Given the description of an element on the screen output the (x, y) to click on. 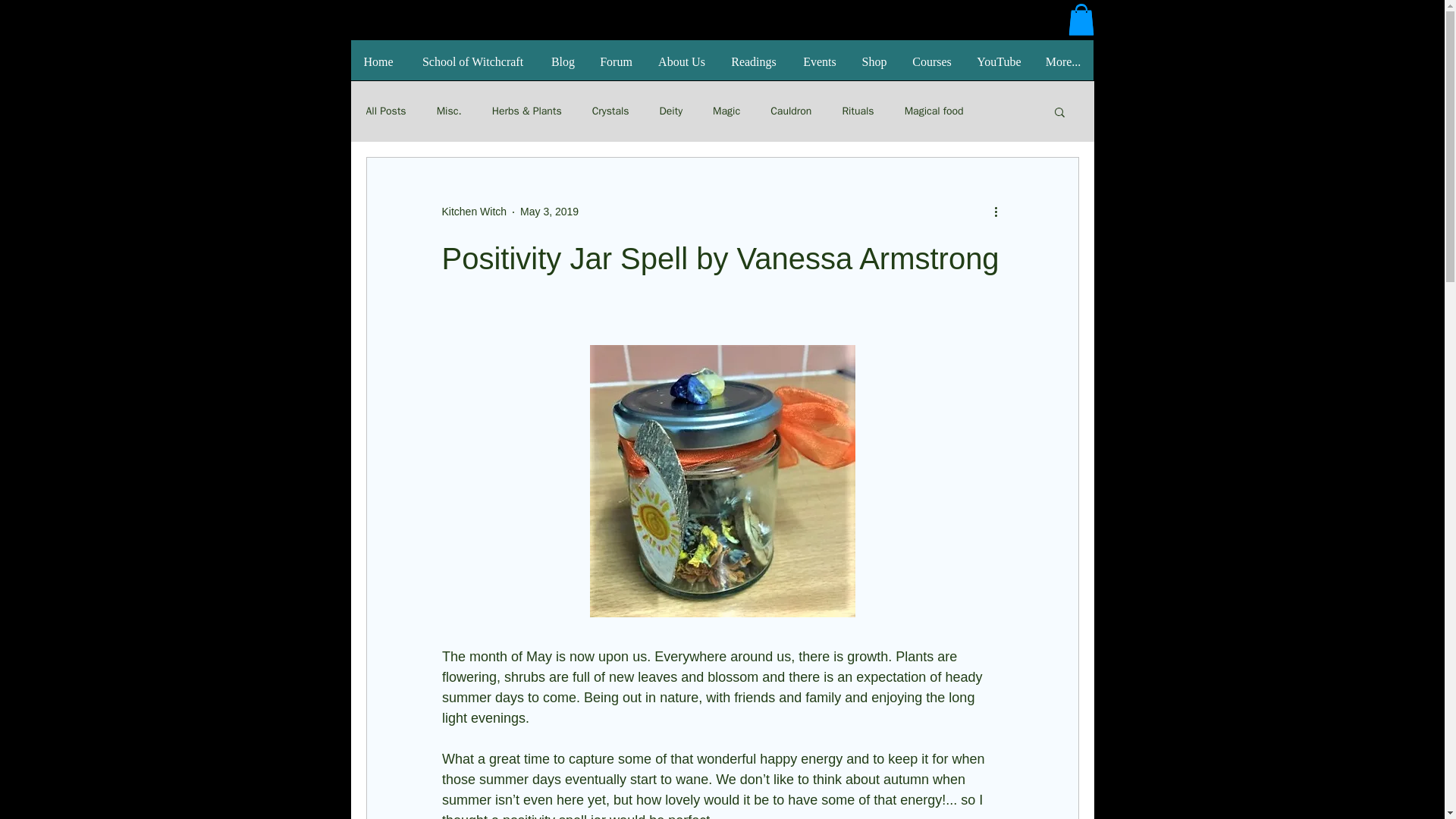
Deity (670, 110)
All Posts (385, 110)
Rituals (857, 110)
Kitchen Witch (473, 211)
Crystals (610, 110)
Magic (726, 110)
Misc. (448, 110)
Magical food (933, 110)
May 3, 2019 (548, 211)
Kitchen Witch (473, 211)
